Given the description of an element on the screen output the (x, y) to click on. 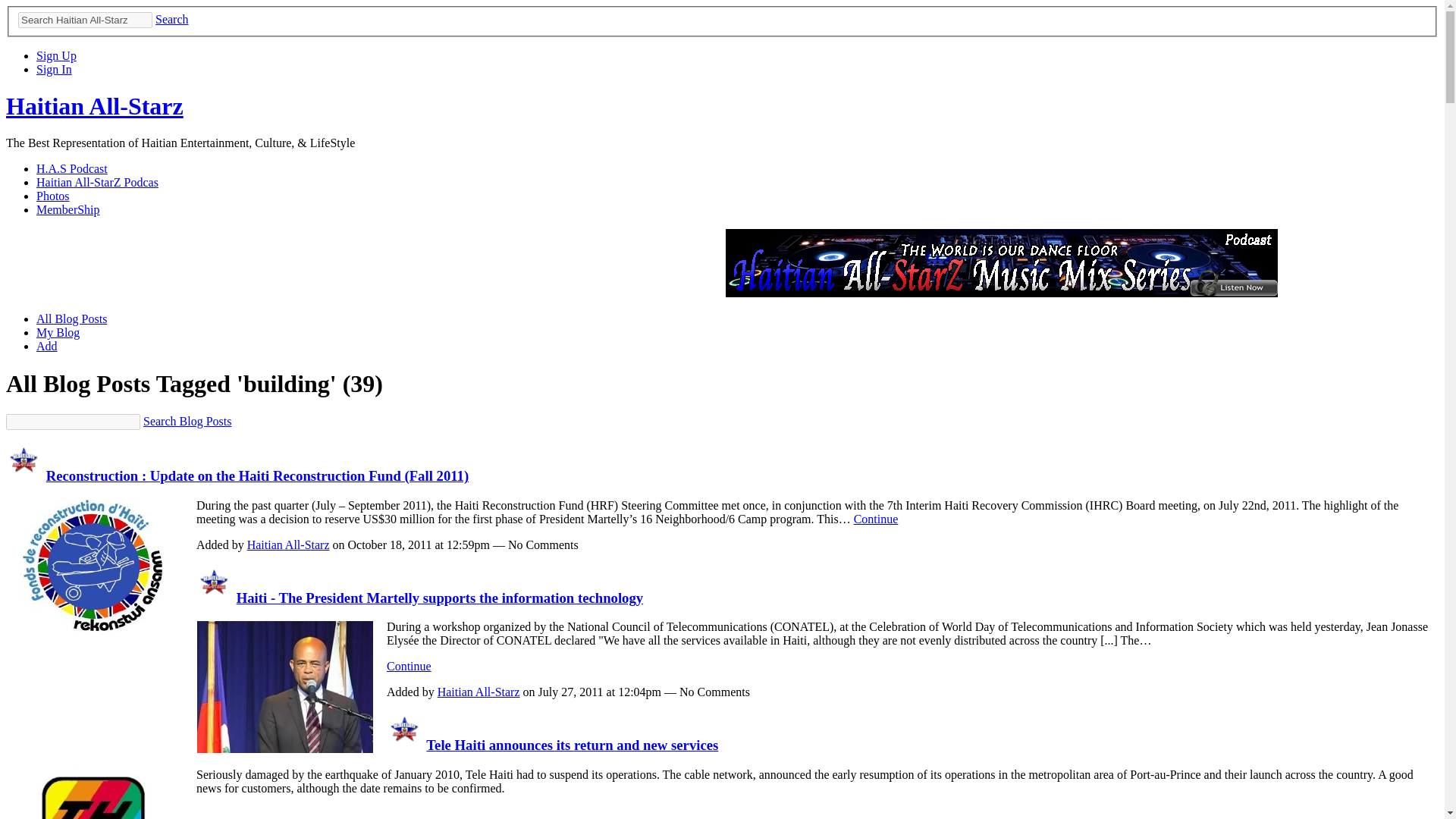
Haitian All-Starz (214, 597)
Haitian All-Starz (405, 744)
Haitian All-Starz (23, 475)
Search Blog Posts (186, 420)
Search Haitian All-Starz (84, 19)
Search (172, 19)
All Blog Posts (71, 318)
My Blog (58, 332)
MemberShip (68, 209)
H.A.S Podcast (71, 168)
Advertisement (443, 263)
Sign In (53, 69)
Haitian All-Starz (94, 105)
Photos (52, 195)
Sign Up (56, 55)
